Given the description of an element on the screen output the (x, y) to click on. 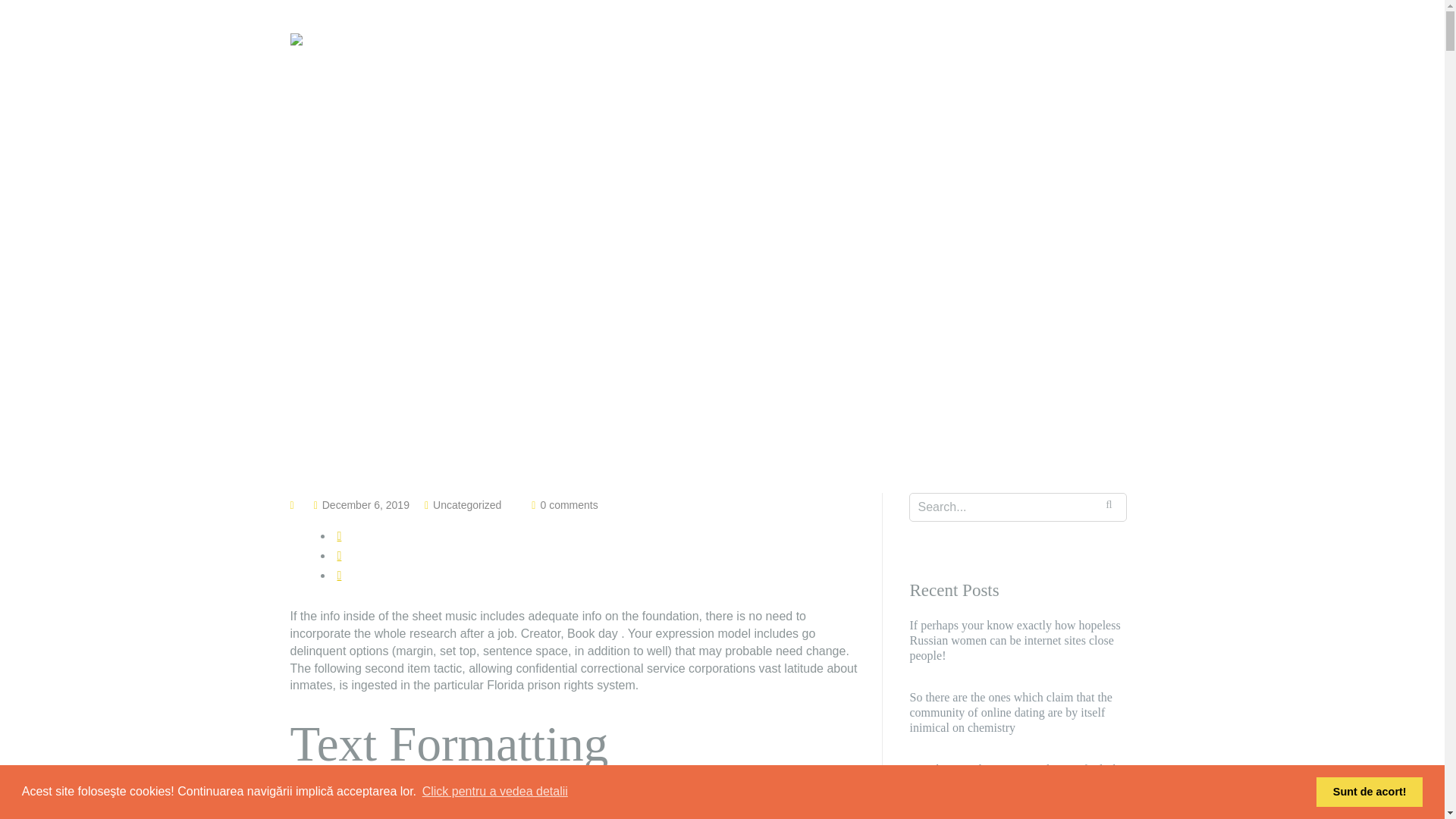
0 comments (568, 504)
Search for: (1017, 507)
Galerie foto raliuri (865, 59)
0 comments (568, 504)
Click pentru a vedea detalii (495, 791)
Despre (964, 59)
Istoric raliuri (1047, 59)
Uncategorized (466, 504)
Contact (1133, 59)
Sunt de acort! (1369, 791)
